Given the description of an element on the screen output the (x, y) to click on. 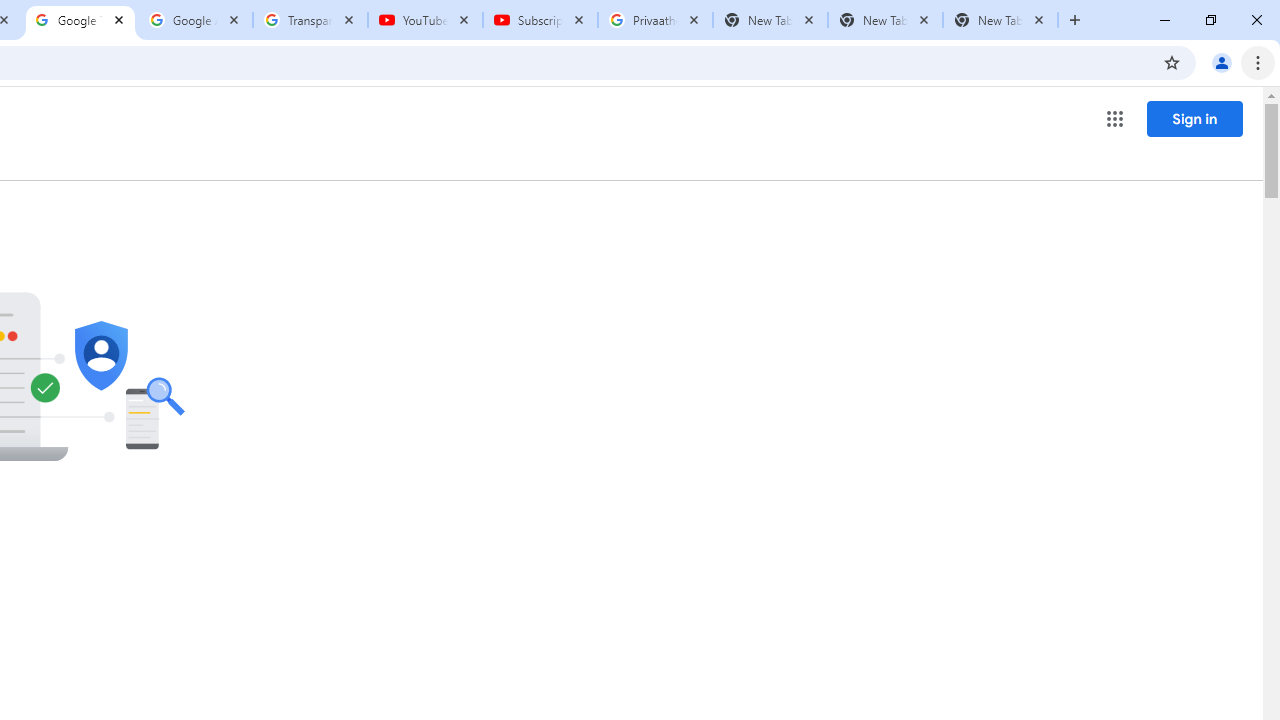
YouTube (424, 20)
